Given the description of an element on the screen output the (x, y) to click on. 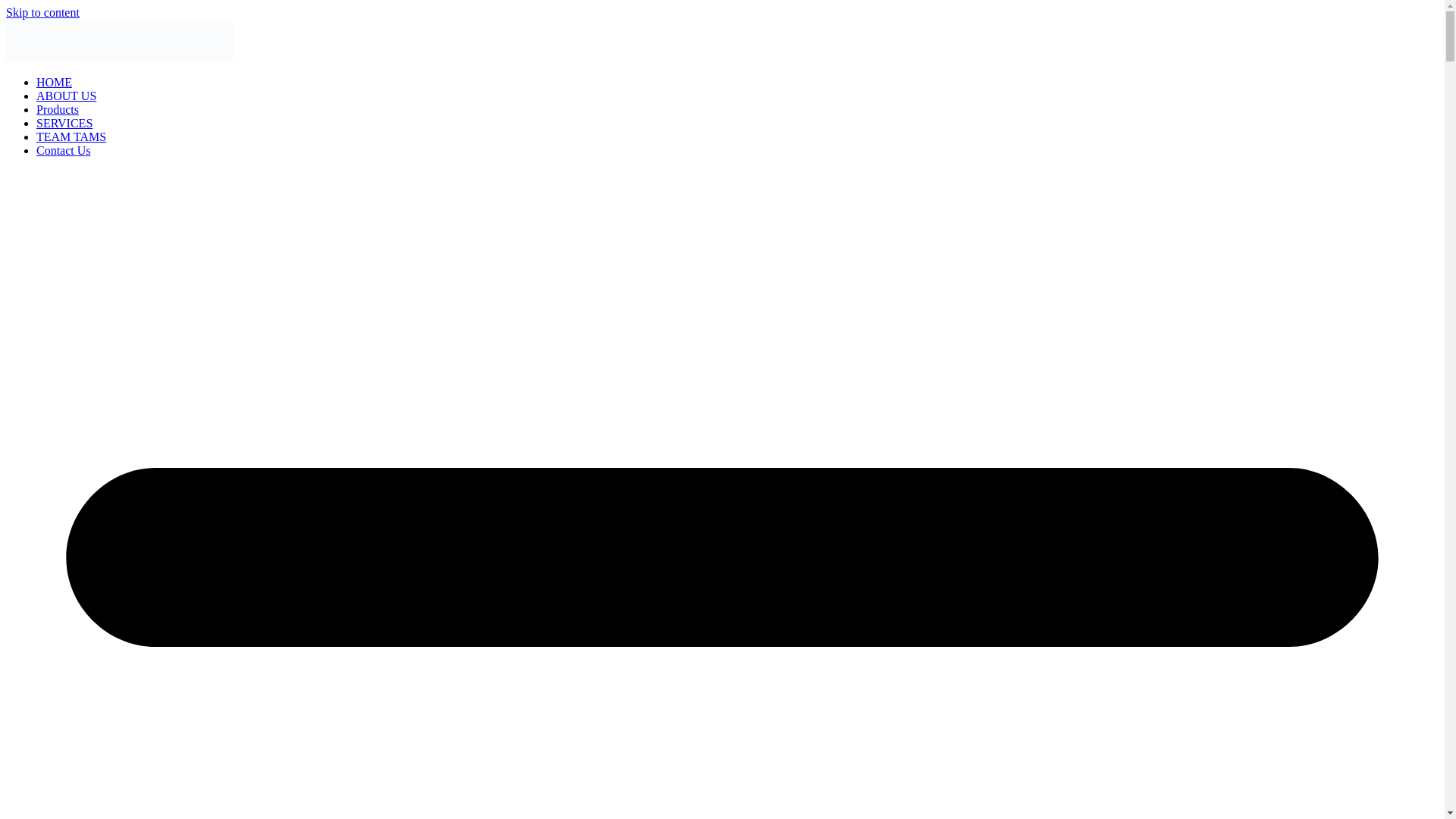
Products (57, 109)
TEAM TAMS (71, 136)
Contact Us (63, 150)
Skip to content (42, 11)
ABOUT US (66, 95)
SERVICES (64, 123)
HOME (53, 82)
